Given the description of an element on the screen output the (x, y) to click on. 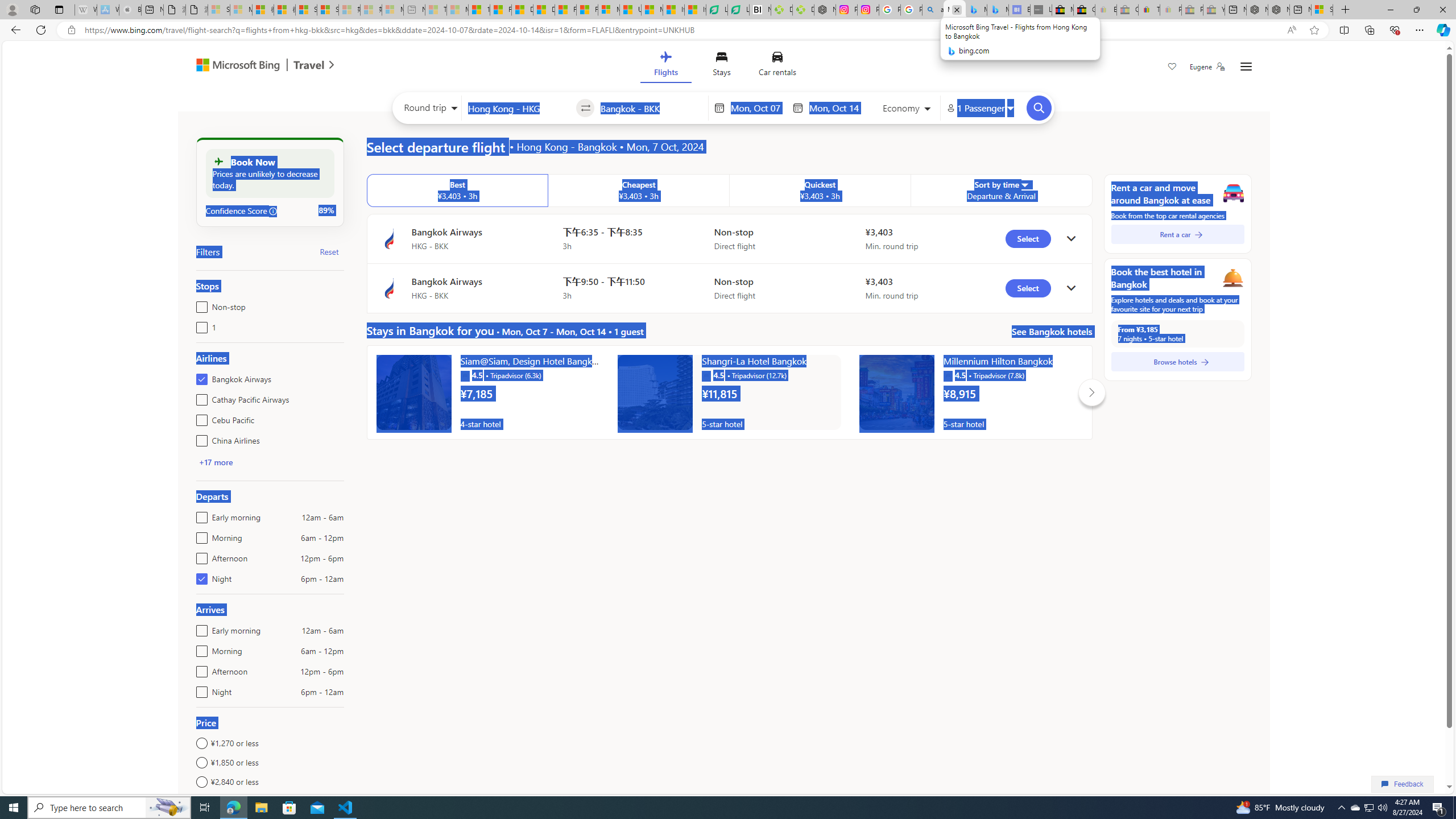
Microsoft account | Account Checkup - Sleeping (392, 9)
Night6pm - 12am (199, 689)
Flight logo (389, 287)
Flights (665, 65)
Nvidia va a poner a prueba la paciencia de los inversores (760, 9)
Morning6am - 12pm (199, 648)
Any price (269, 801)
